Given the description of an element on the screen output the (x, y) to click on. 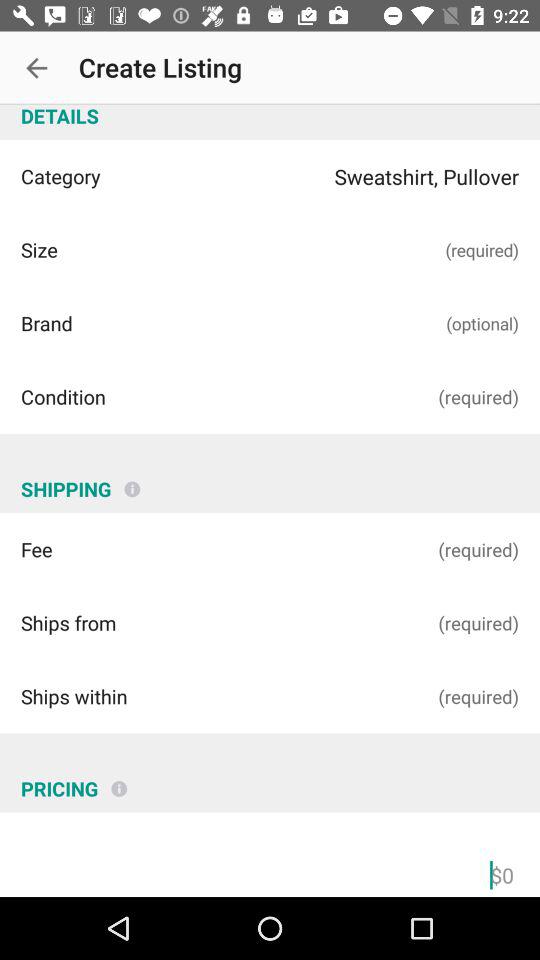
click icon above the details (36, 67)
